Given the description of an element on the screen output the (x, y) to click on. 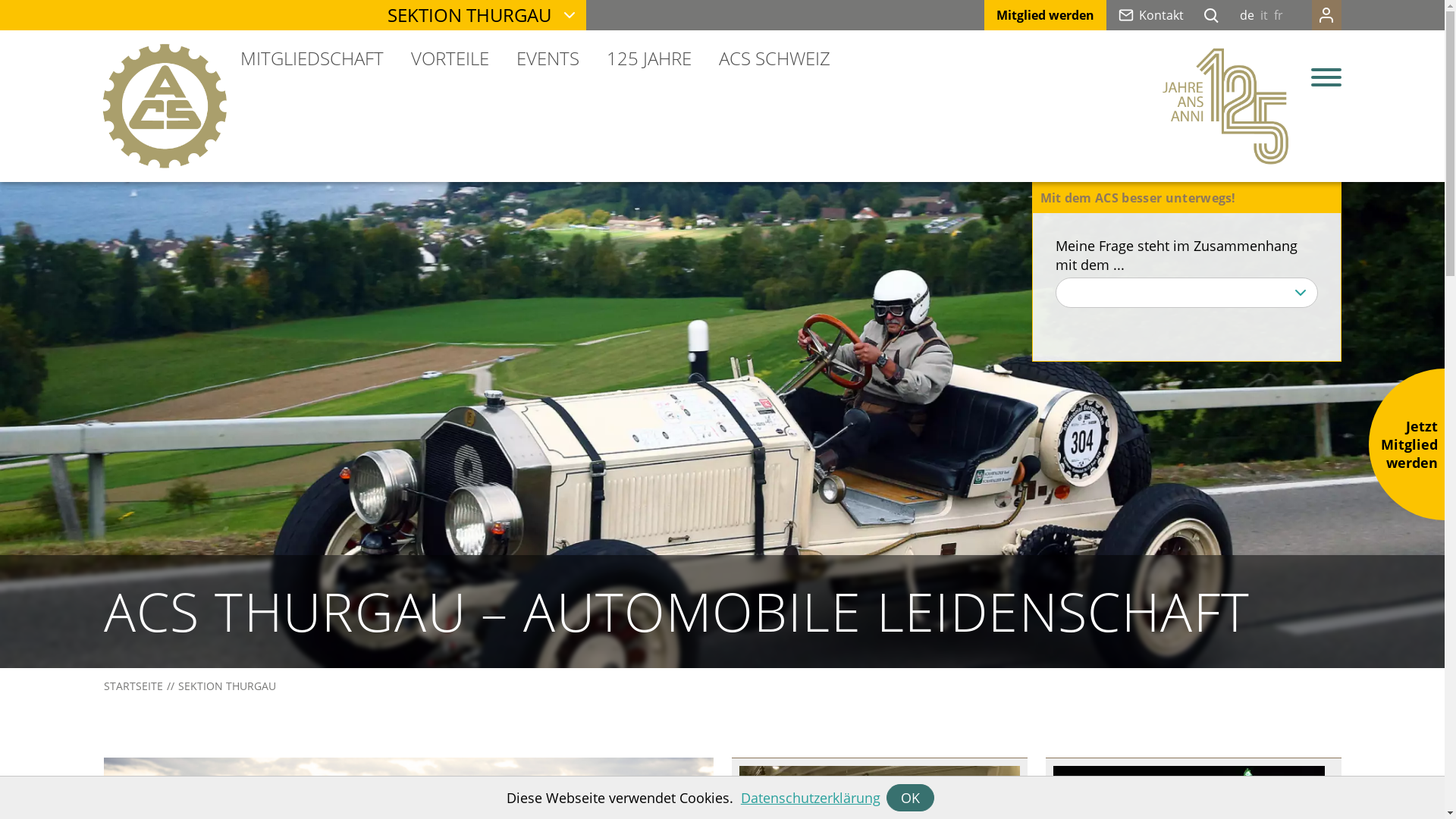
SEKTION THURGAU Element type: text (223, 685)
Kontakt Element type: text (1150, 15)
STARTSEITE Element type: text (134, 685)
Zur Startseite Element type: hover (1224, 105)
EVENTS Element type: text (547, 59)
SEKTION THURGAU Element type: text (476, 15)
ACS SCHWEIZ Element type: text (767, 59)
Jetzt Mitglied werden Element type: text (1406, 444)
Zur Startseite Element type: hover (163, 105)
MITGLIEDSCHAFT Element type: text (317, 59)
VORTEILE Element type: text (449, 59)
fr Element type: text (1278, 15)
125 JAHRE Element type: text (649, 59)
it Element type: text (1263, 15)
OK Element type: text (910, 797)
Mitglied werden Element type: text (1045, 15)
